Given the description of an element on the screen output the (x, y) to click on. 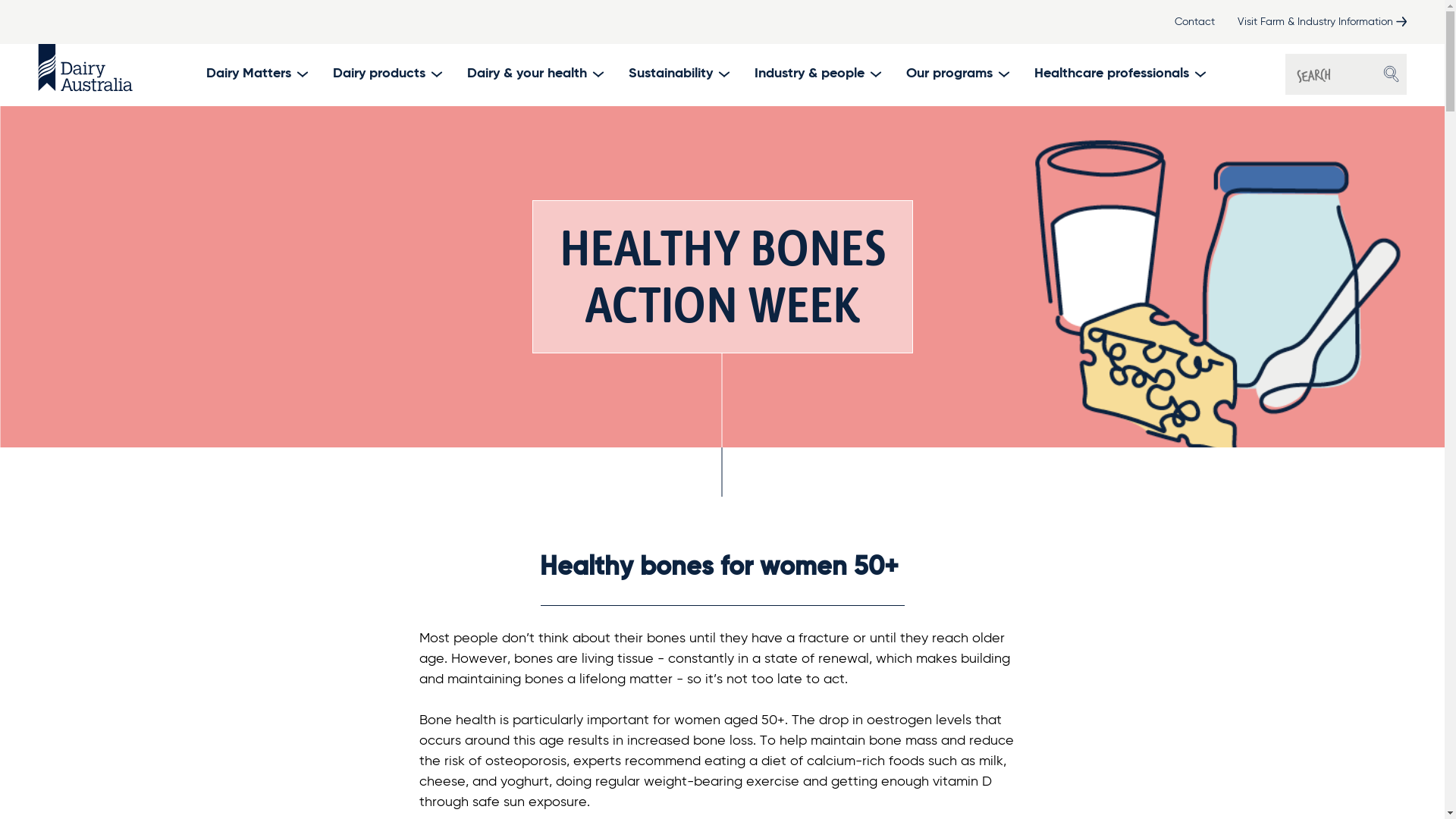
Visit Farm & Industry Information Element type: text (1321, 21)
Dairy Matters Element type: text (255, 73)
Sustainability Element type: text (678, 73)
Healthcare professionals Element type: text (1118, 73)
Dairy & your health Element type: text (534, 73)
Contact Element type: text (1194, 21)
Our programs Element type: text (956, 73)
Industry & people Element type: text (816, 73)
Dairy products Element type: text (386, 73)
